Given the description of an element on the screen output the (x, y) to click on. 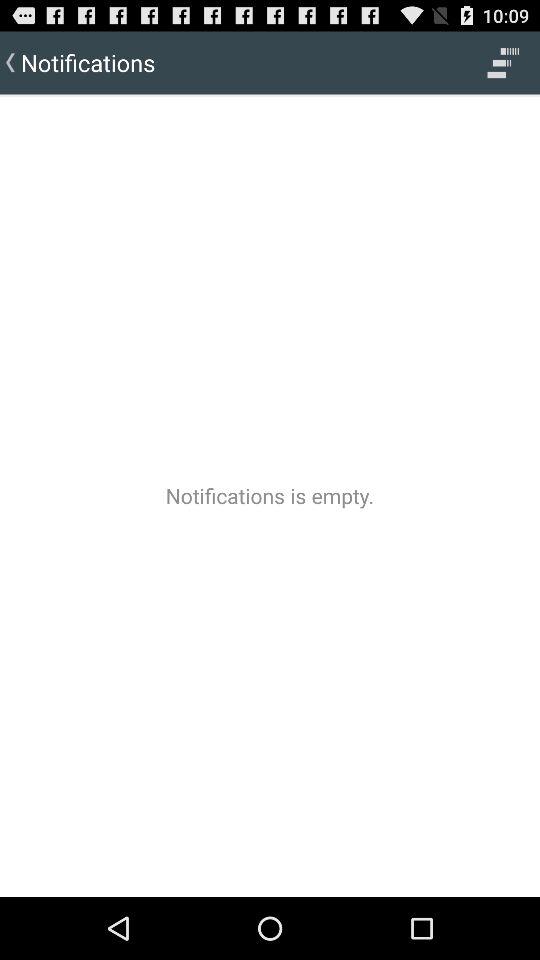
open the item next to the notifications (503, 62)
